Given the description of an element on the screen output the (x, y) to click on. 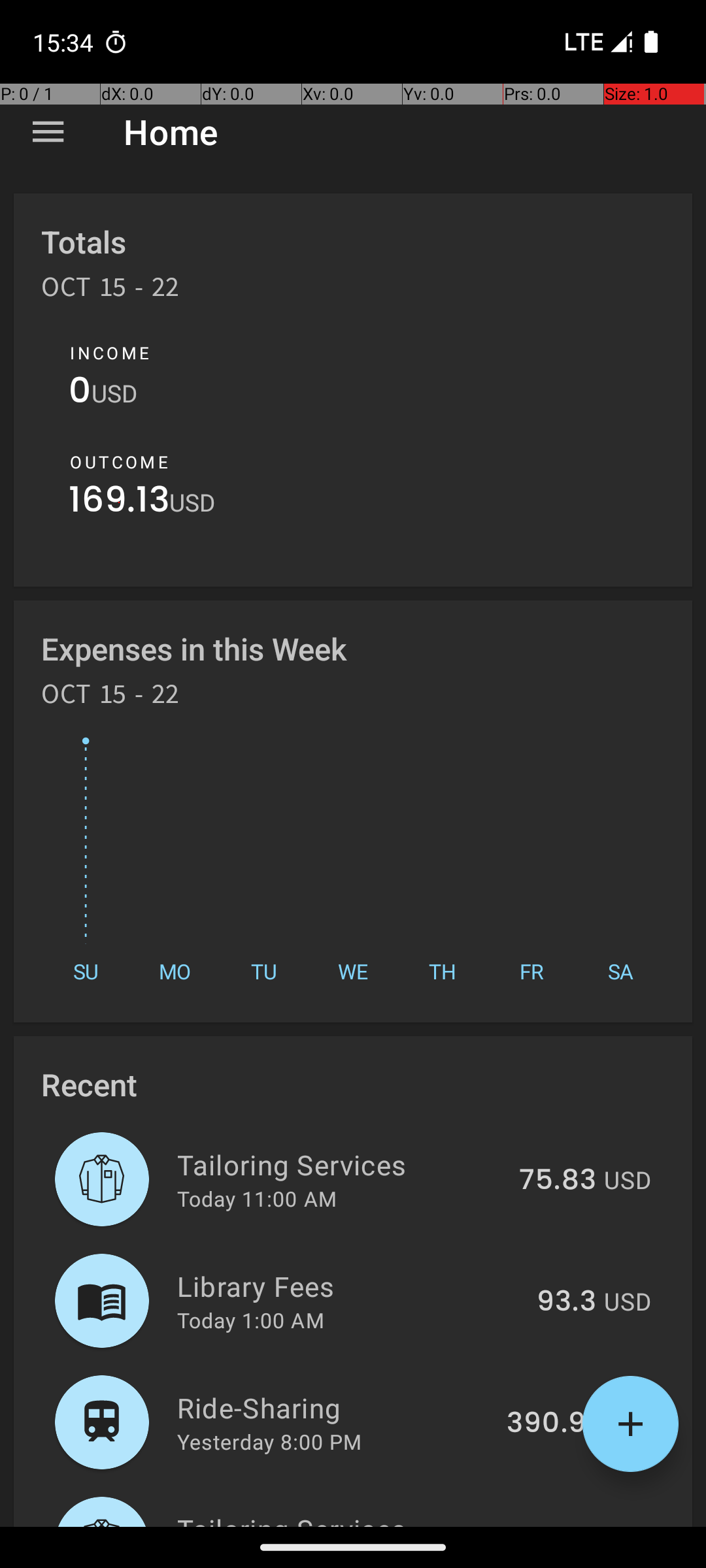
169.13 Element type: android.widget.TextView (118, 502)
Tailoring Services Element type: android.widget.TextView (340, 1164)
Today 11:00 AM Element type: android.widget.TextView (256, 1198)
75.83 Element type: android.widget.TextView (557, 1180)
Library Fees Element type: android.widget.TextView (349, 1285)
Today 1:00 AM Element type: android.widget.TextView (250, 1320)
93.3 Element type: android.widget.TextView (566, 1301)
Ride-Sharing Element type: android.widget.TextView (334, 1407)
Yesterday 8:00 PM Element type: android.widget.TextView (269, 1441)
390.91 Element type: android.widget.TextView (550, 1423)
67.49 Element type: android.widget.TextView (556, 1524)
